Given the description of an element on the screen output the (x, y) to click on. 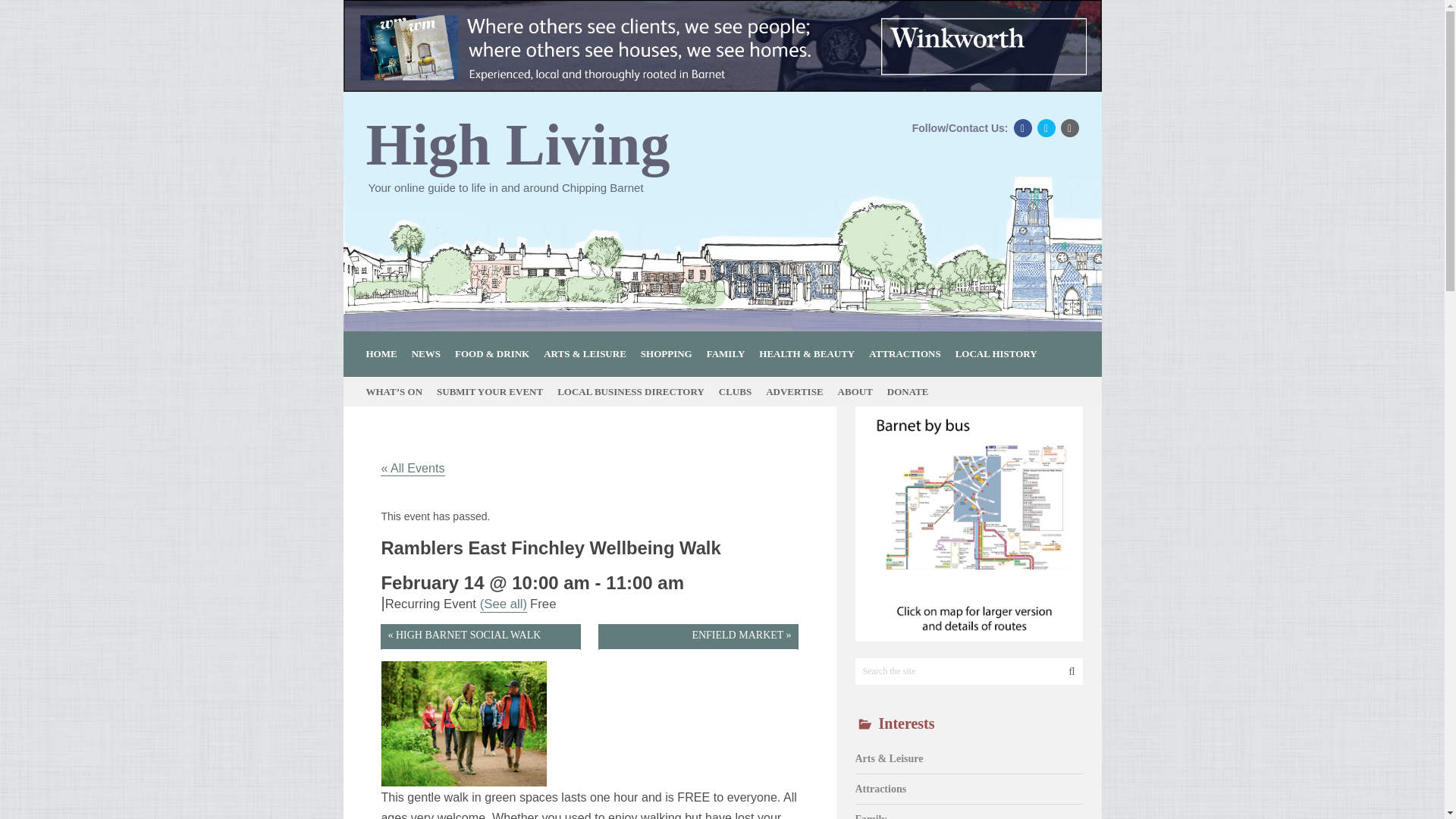
NEWS (431, 353)
SUBMIT YOUR EVENT (495, 391)
High Living (517, 144)
ATTRACTIONS (910, 353)
ADVERTISE (799, 391)
CLUBS (740, 391)
FAMILY (731, 353)
DONATE (913, 391)
LOCAL HISTORY (1001, 353)
ABOUT (860, 391)
